Given the description of an element on the screen output the (x, y) to click on. 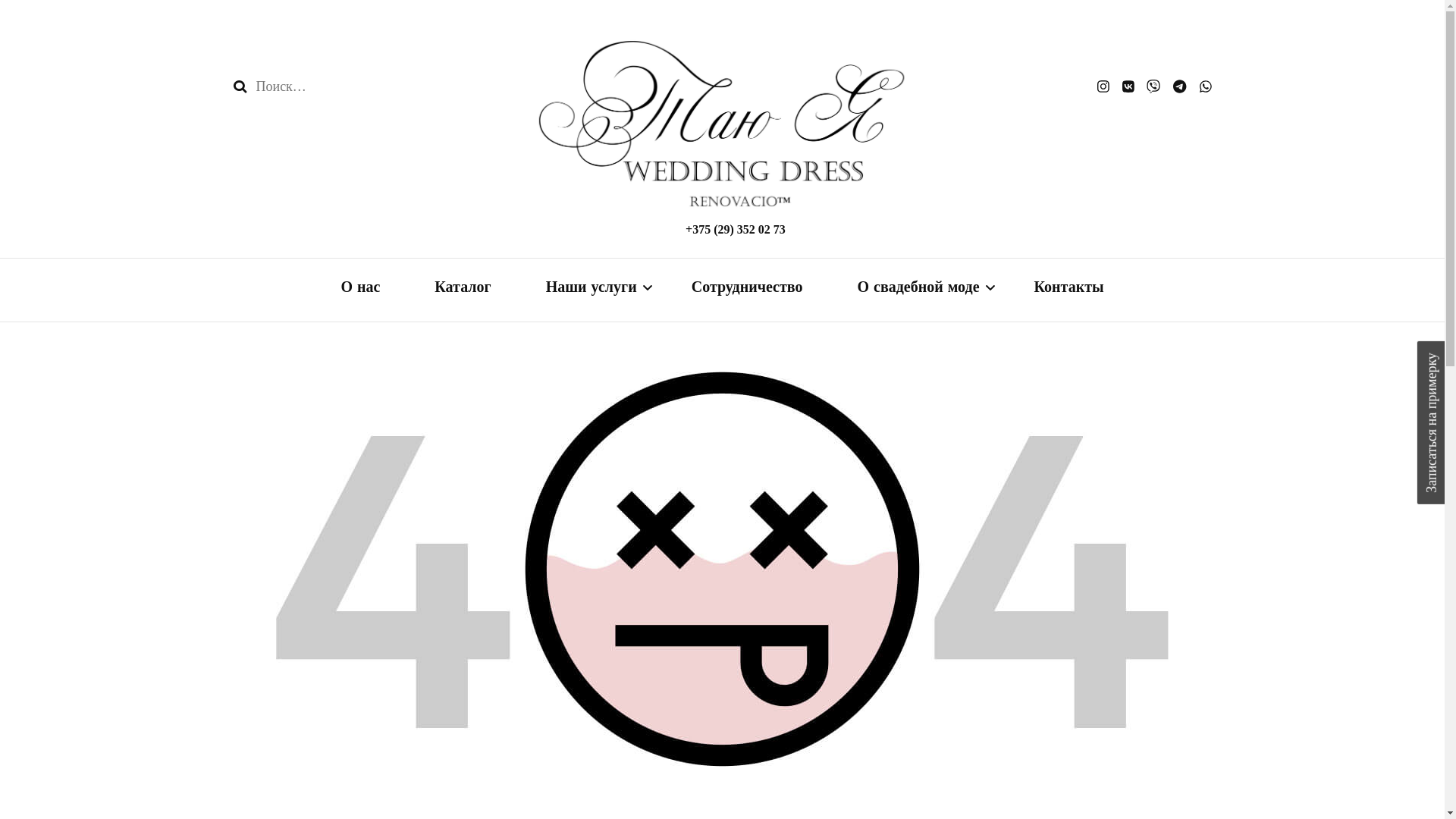
+375 (29) 352 02 73 Element type: text (735, 228)
